Given the description of an element on the screen output the (x, y) to click on. 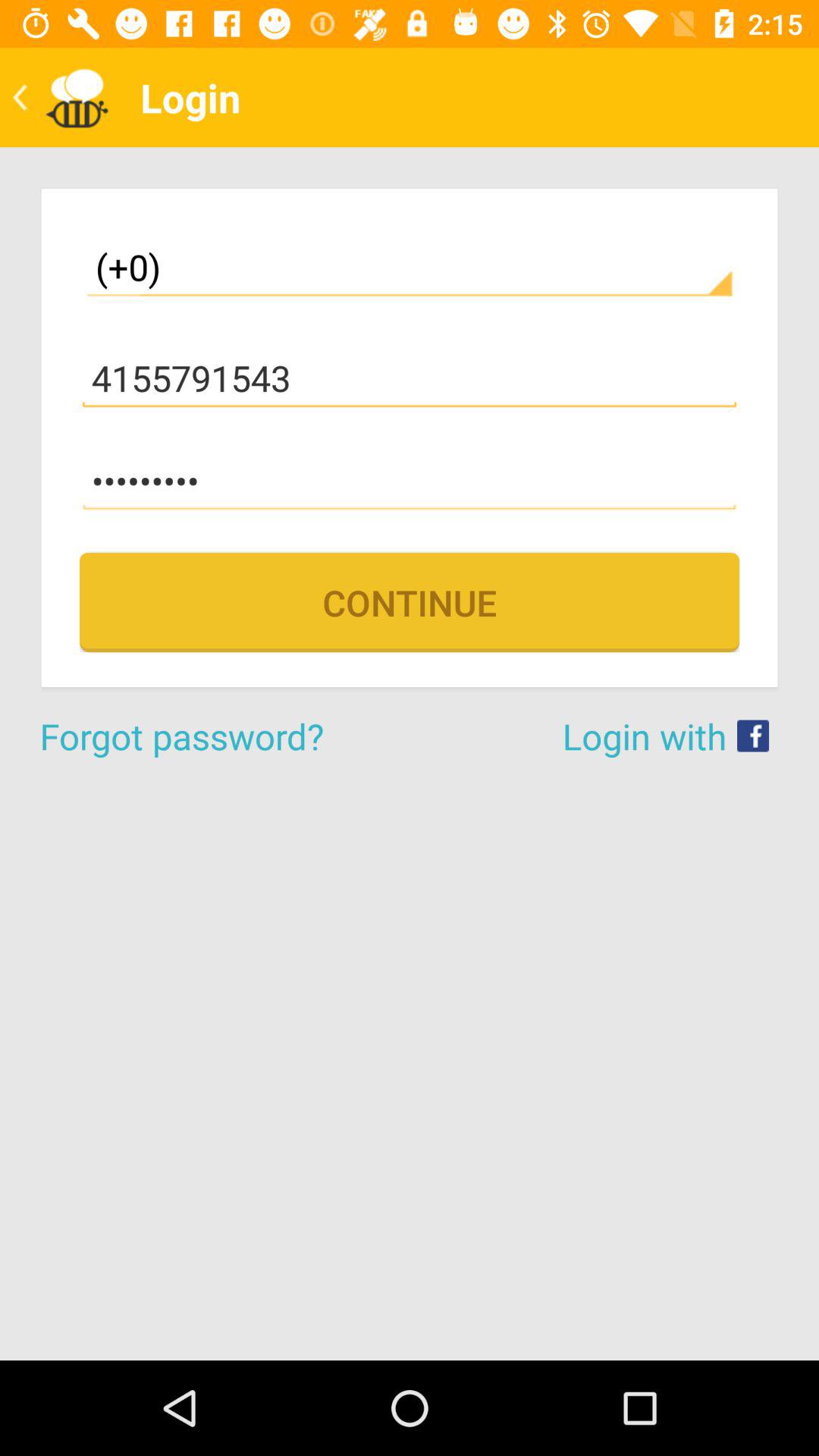
select the icon below (+0) (409, 378)
